Given the description of an element on the screen output the (x, y) to click on. 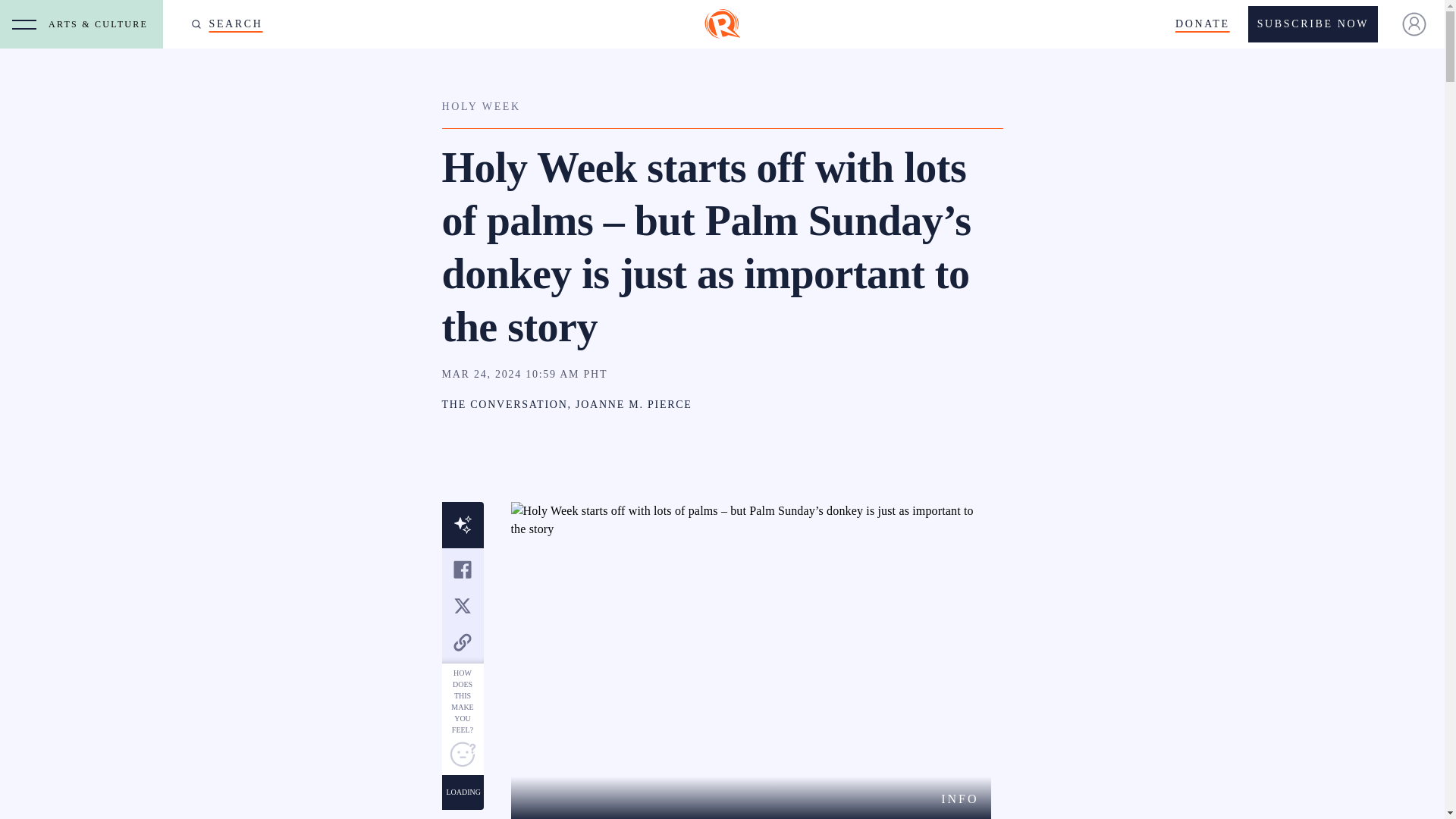
OPEN NAVIGATION (24, 24)
